Given the description of an element on the screen output the (x, y) to click on. 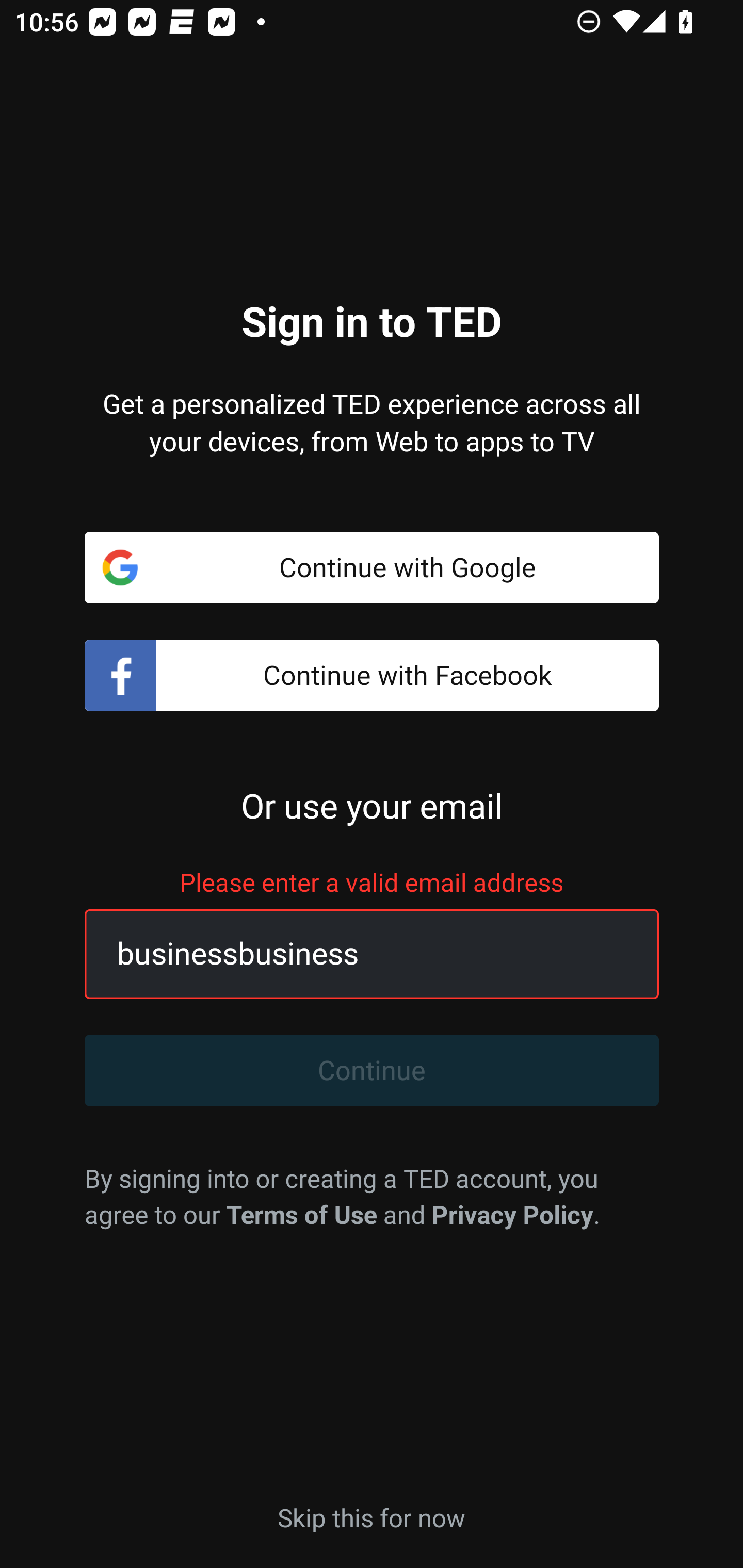
Continue with Google (371, 567)
Continue with Facebook (371, 675)
businessbusiness (349, 953)
Continue (371, 1070)
Skip this for now (371, 1516)
